Given the description of an element on the screen output the (x, y) to click on. 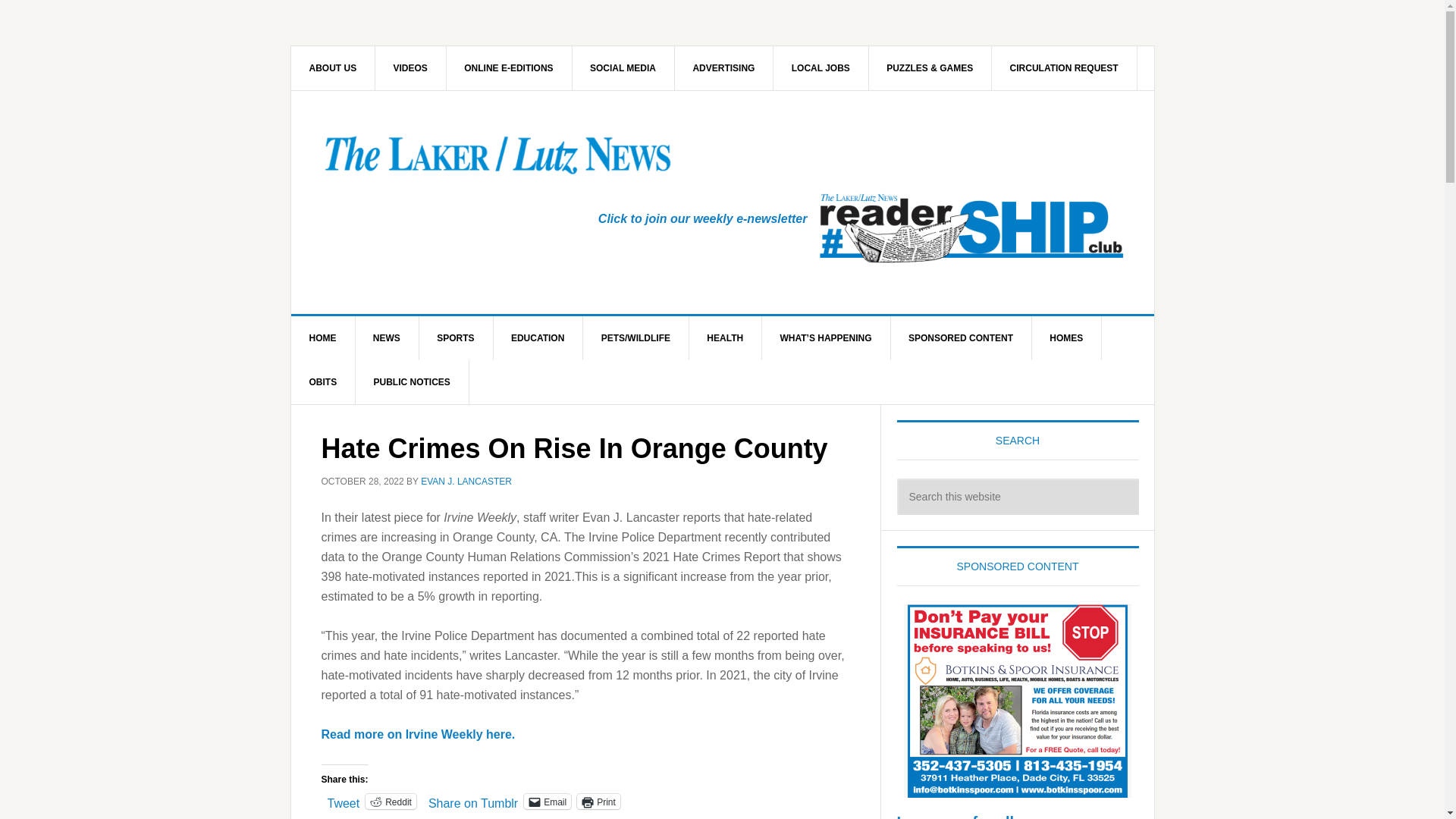
Click to join our weekly e-newsletter (703, 218)
Share on Tumblr (473, 800)
ADVERTISING (723, 67)
Click to email a link to a friend (547, 801)
NEWS (387, 338)
CIRCULATION REQUEST (1064, 67)
ABOUT US (333, 67)
ONLINE E-EDITIONS (508, 67)
Click to print (598, 801)
SOCIAL MEDIA (623, 67)
Click to share on Reddit (390, 801)
HOME (323, 338)
LOCAL JOBS (821, 67)
VIDEOS (410, 67)
